Given the description of an element on the screen output the (x, y) to click on. 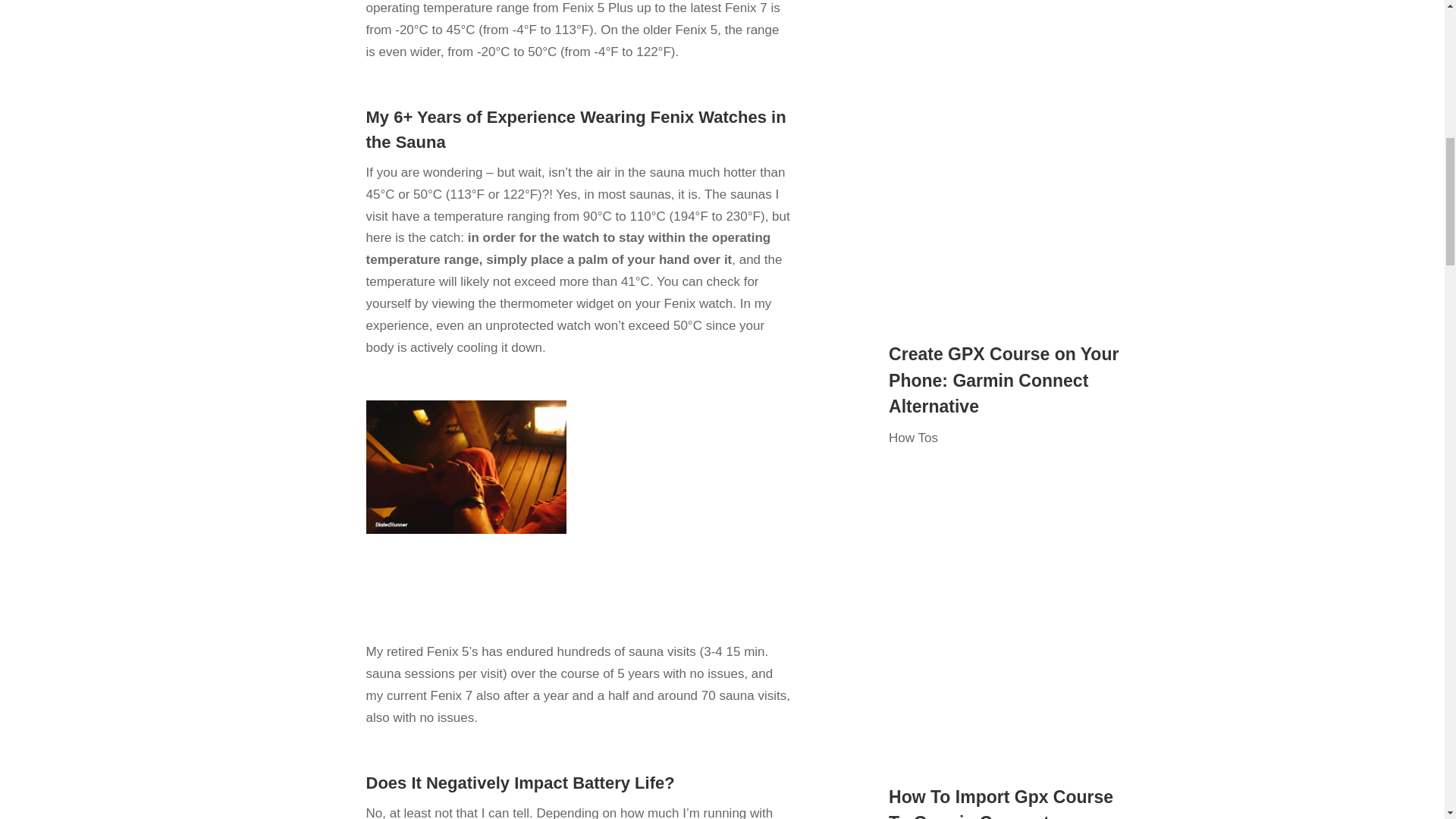
How Tos (912, 1)
Protecting Fenix Watch with Hand in Sauna (466, 466)
How Tos (912, 437)
Create GPX Course on Your Phone: Garmin Connect Alternative (1003, 379)
